Given the description of an element on the screen output the (x, y) to click on. 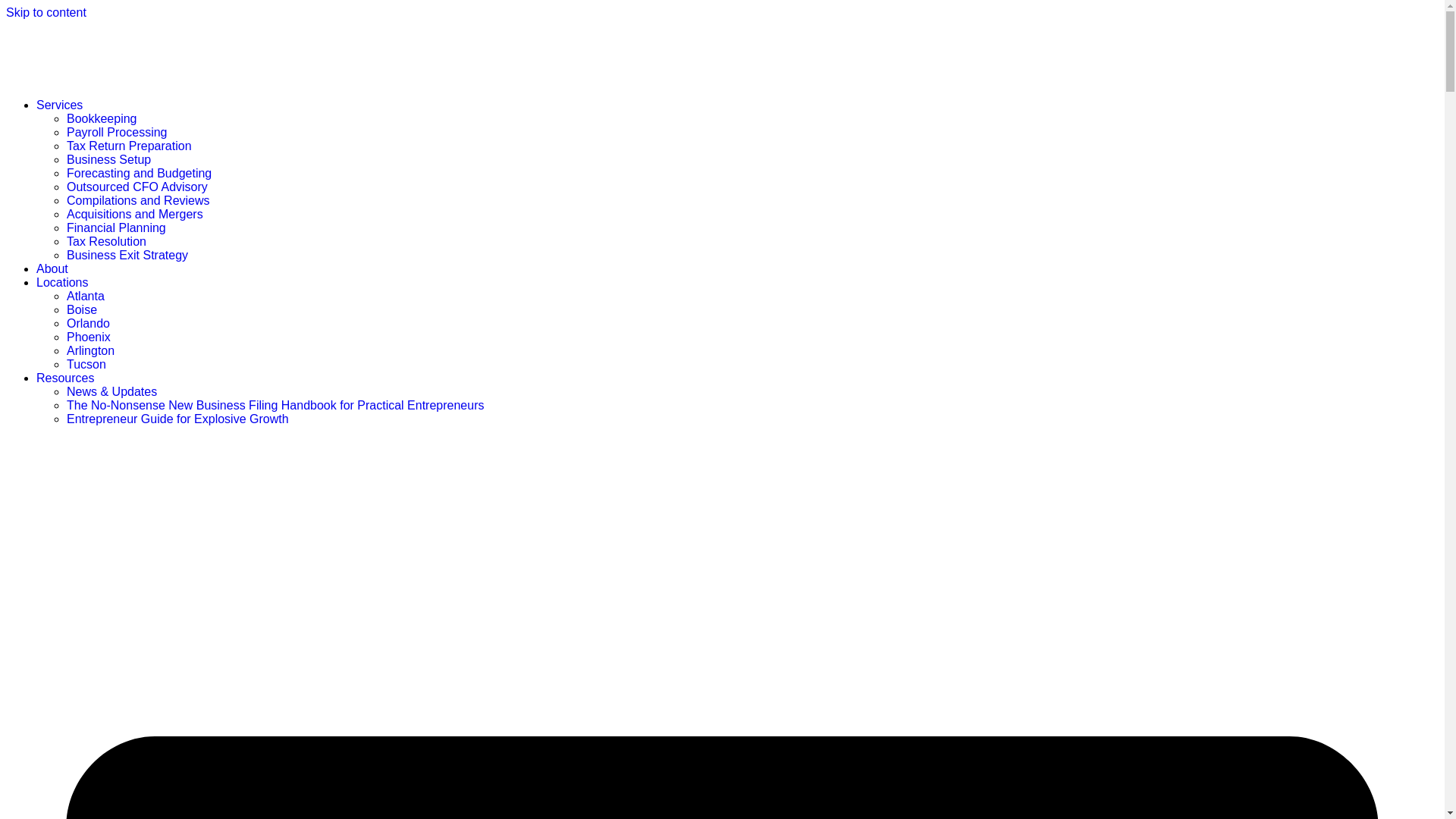
Outsourced CFO Advisory (137, 186)
Acquisitions and Mergers (134, 214)
Locations (62, 282)
Compilations and Reviews (137, 200)
Arlington (90, 350)
Resources (65, 377)
Phoenix (88, 336)
Forecasting and Budgeting (138, 173)
Payroll Processing (116, 132)
Atlanta (85, 295)
Bookkeeping (101, 118)
Tax Resolution (106, 241)
Business Setup (108, 159)
Skip to content (45, 11)
